Given the description of an element on the screen output the (x, y) to click on. 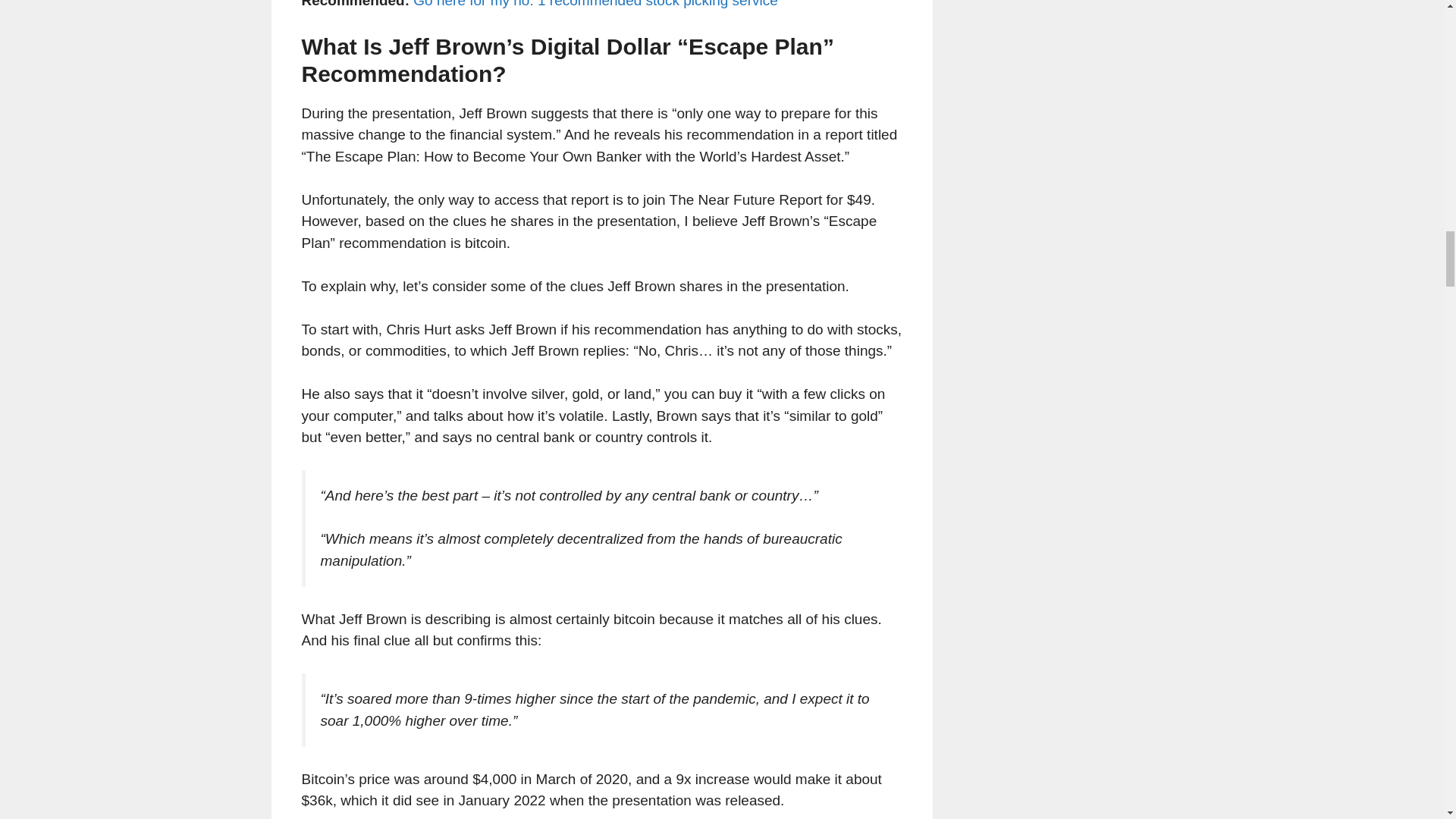
Go here for my no. 1 recommended stock picking service (595, 4)
